Given the description of an element on the screen output the (x, y) to click on. 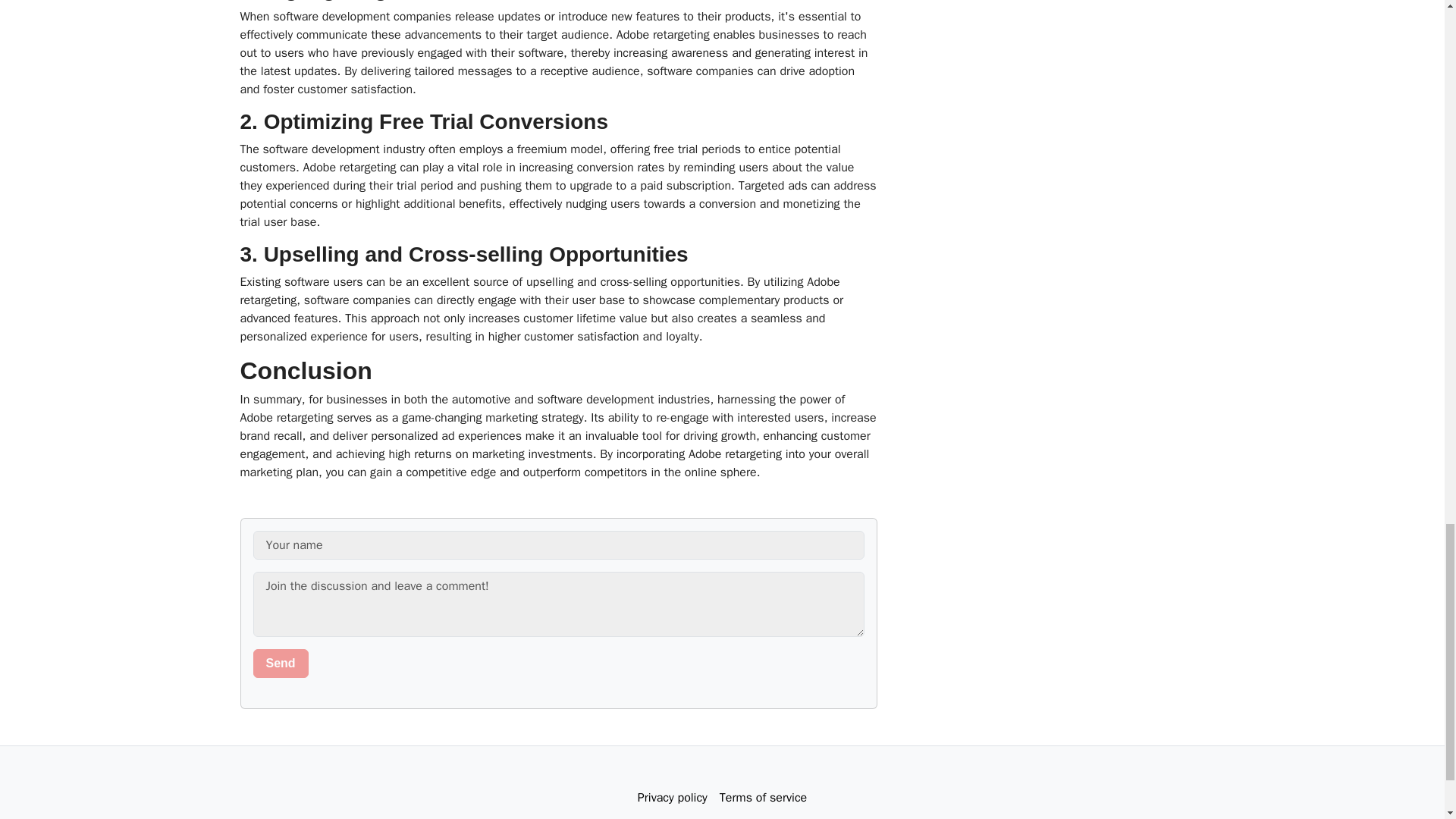
Privacy policy (672, 797)
Send (280, 663)
Terms of service (762, 797)
Send (280, 663)
